Given the description of an element on the screen output the (x, y) to click on. 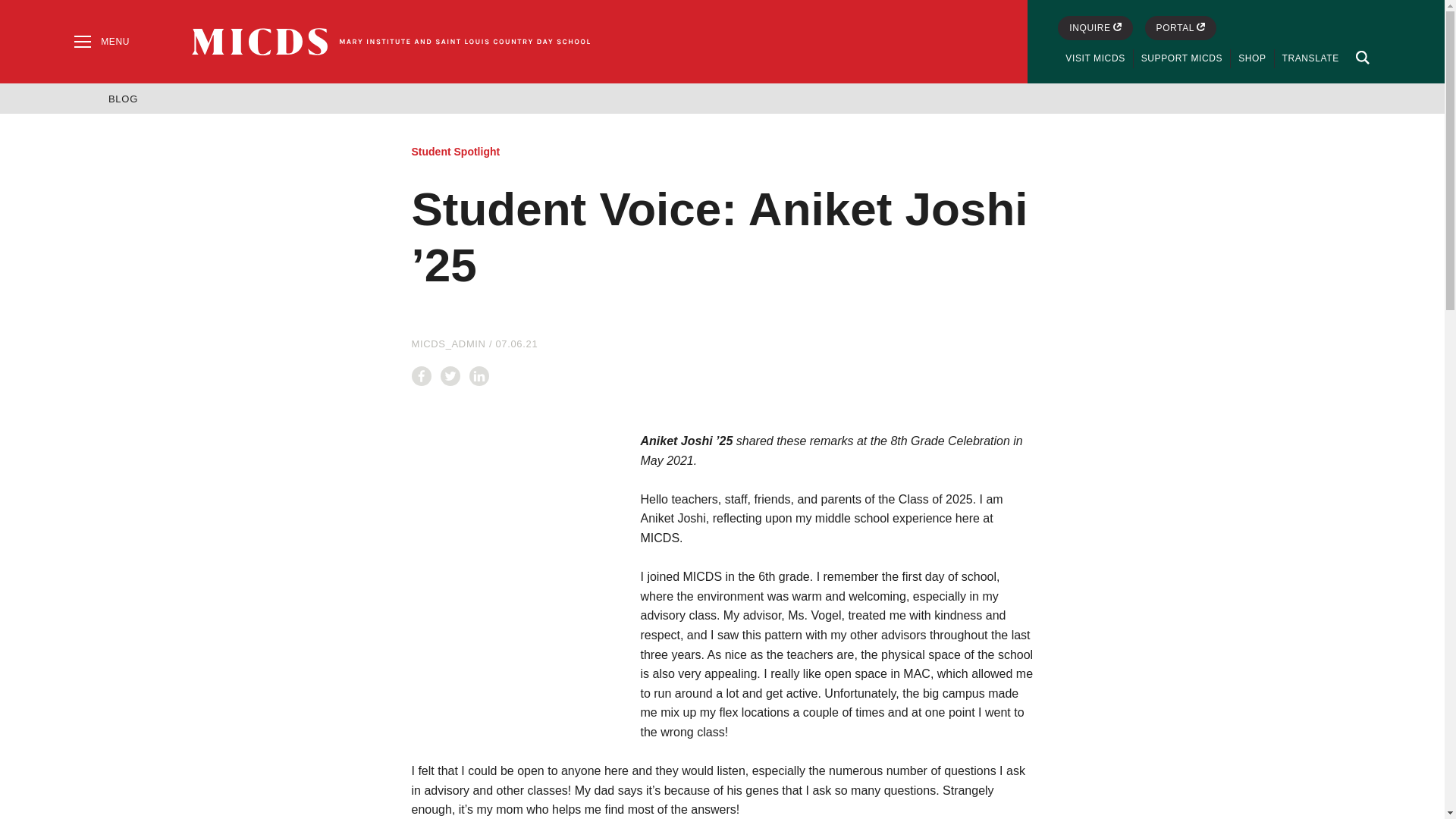
MENU (100, 41)
MICDS Home (390, 41)
Open Search (1360, 57)
